Given the description of an element on the screen output the (x, y) to click on. 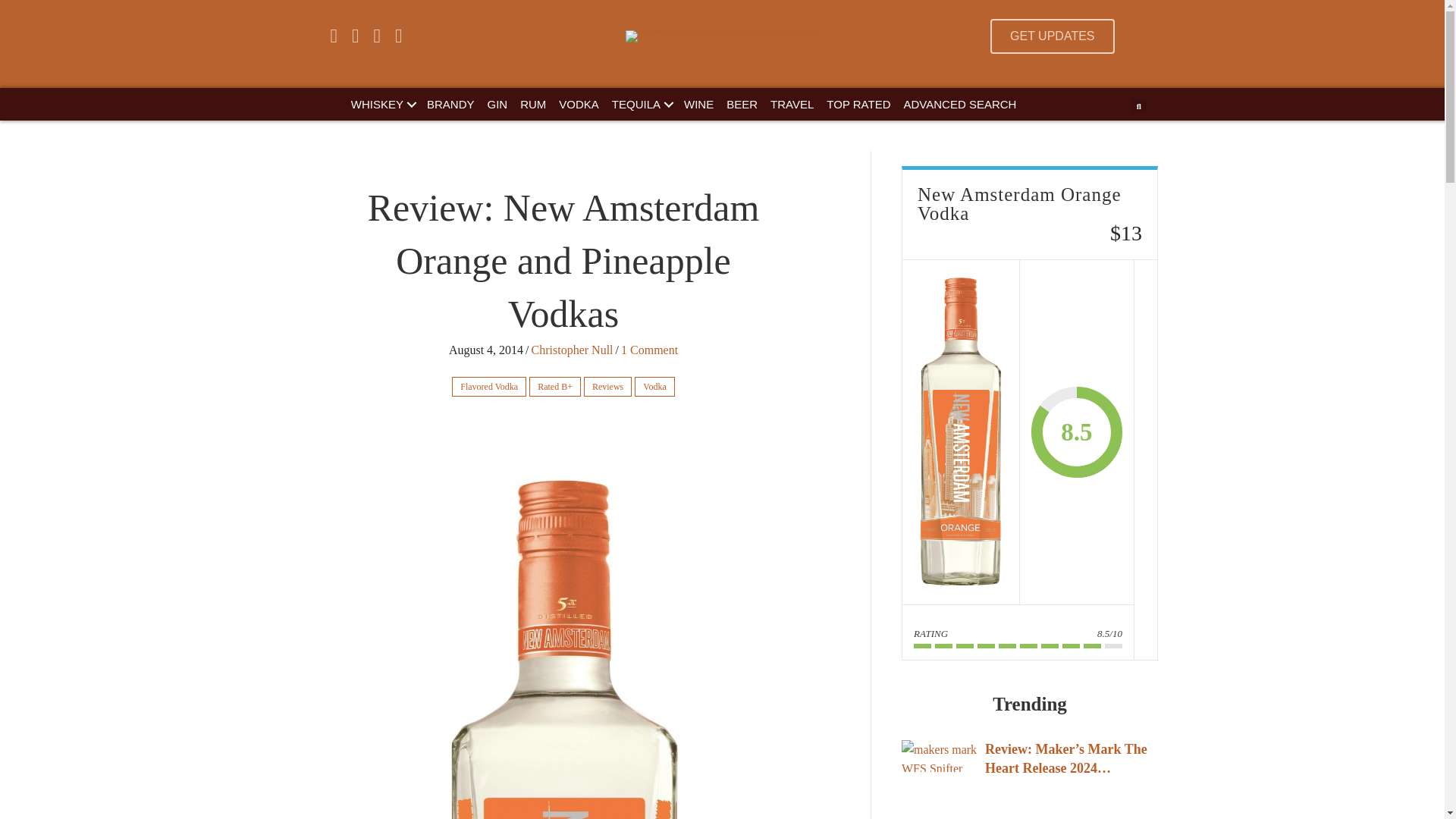
TEQUILA (641, 103)
ADVANCED SEARCH (960, 103)
GIN (496, 103)
Submit (739, 308)
BRANDY (450, 103)
WHISKEY (382, 103)
TRAVEL (791, 103)
WINE (698, 103)
TOP RATED (858, 103)
GET UPDATES (1051, 36)
